Given the description of an element on the screen output the (x, y) to click on. 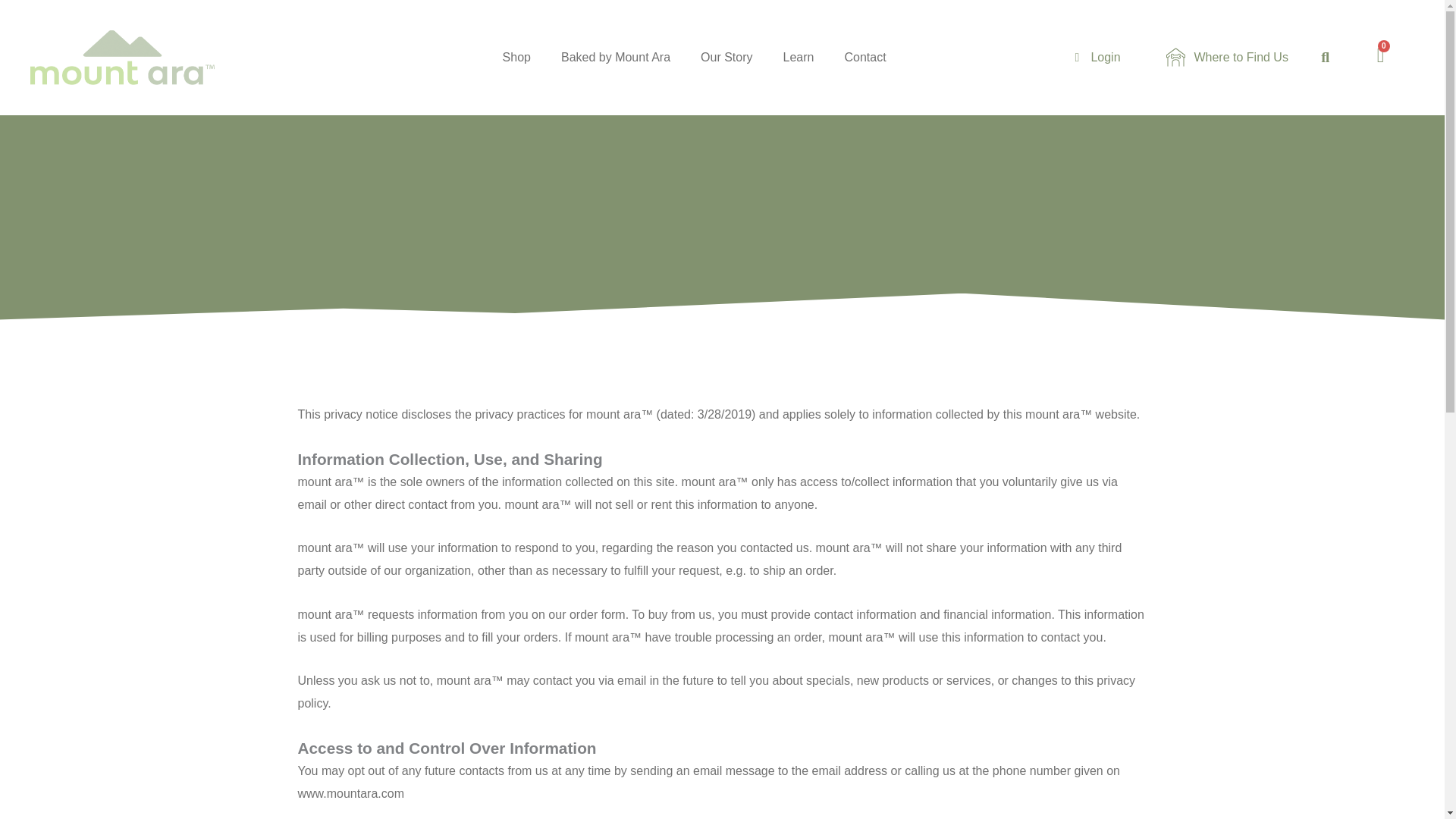
Our Story (726, 57)
Baked by Mount Ara (615, 57)
Contact (864, 57)
Shop (516, 57)
Login (1086, 56)
Where to Find Us (1211, 56)
Learn (798, 57)
